Given the description of an element on the screen output the (x, y) to click on. 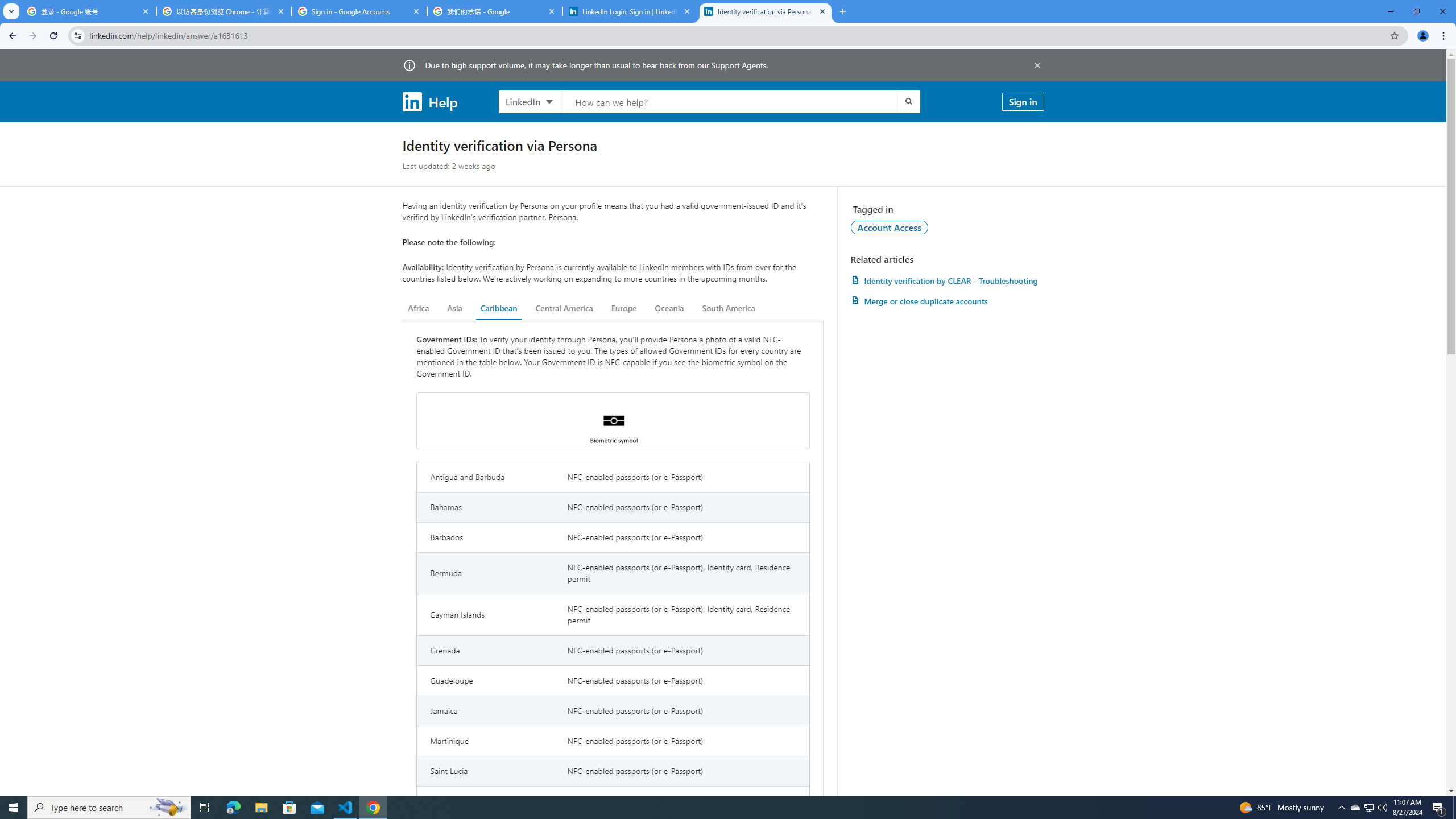
Submit search (908, 101)
Merge or close duplicate accounts (946, 300)
Africa (418, 308)
LinkedIn Login, Sign in | LinkedIn (630, 11)
Identity verification by CLEAR - Troubleshooting (946, 280)
